Given the description of an element on the screen output the (x, y) to click on. 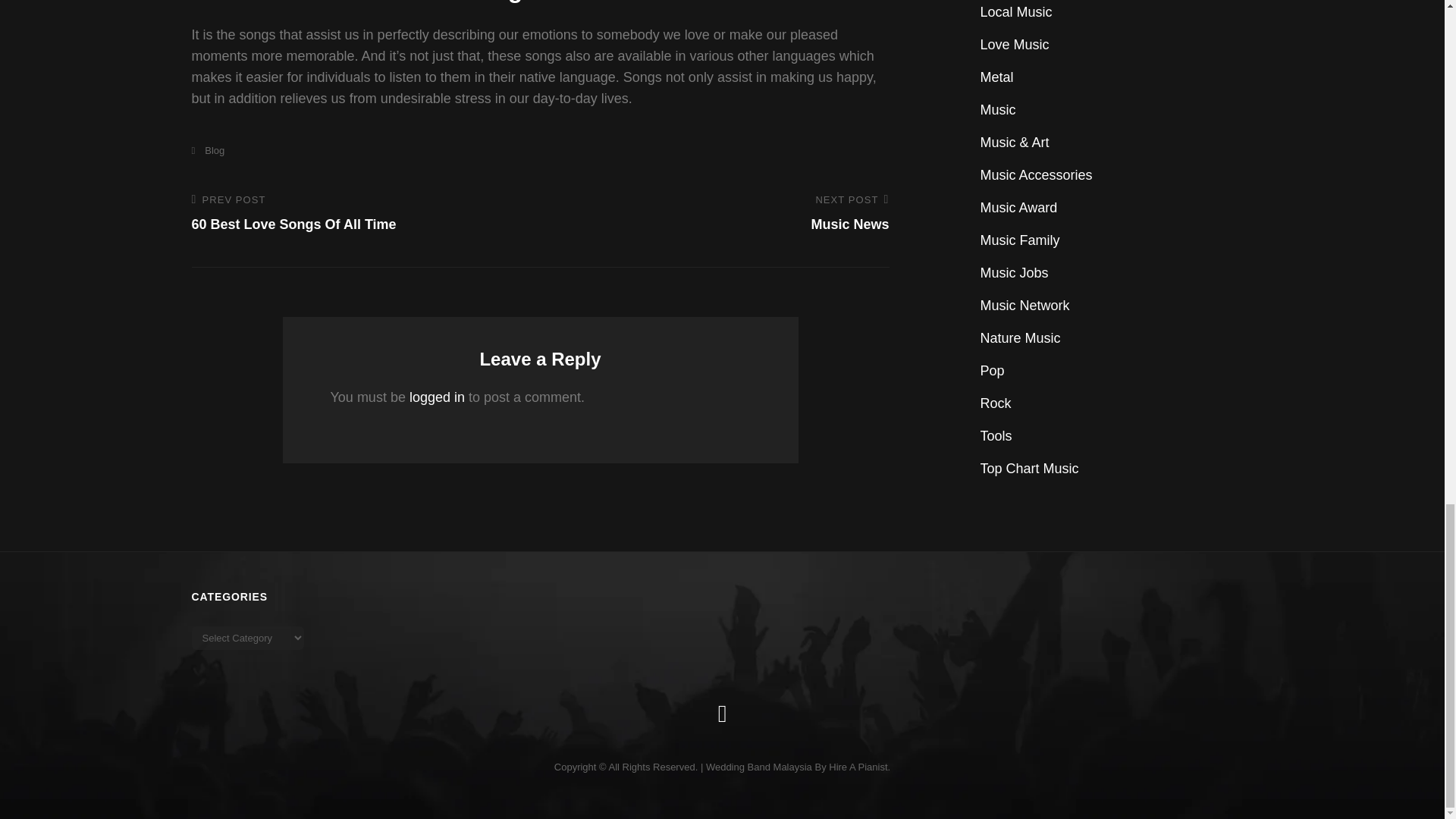
Blog (207, 150)
